Given the description of an element on the screen output the (x, y) to click on. 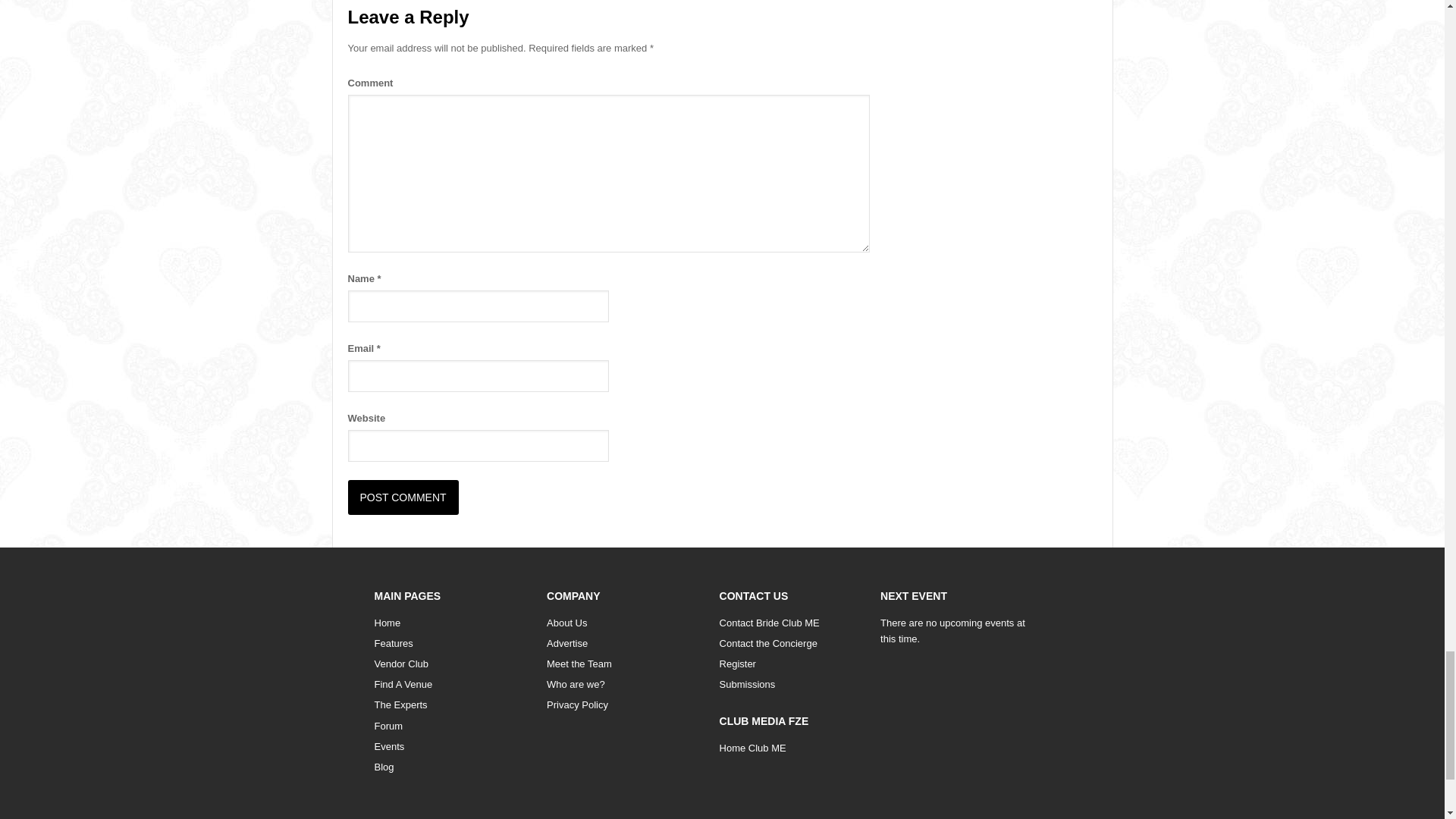
Post Comment (402, 497)
